Given the description of an element on the screen output the (x, y) to click on. 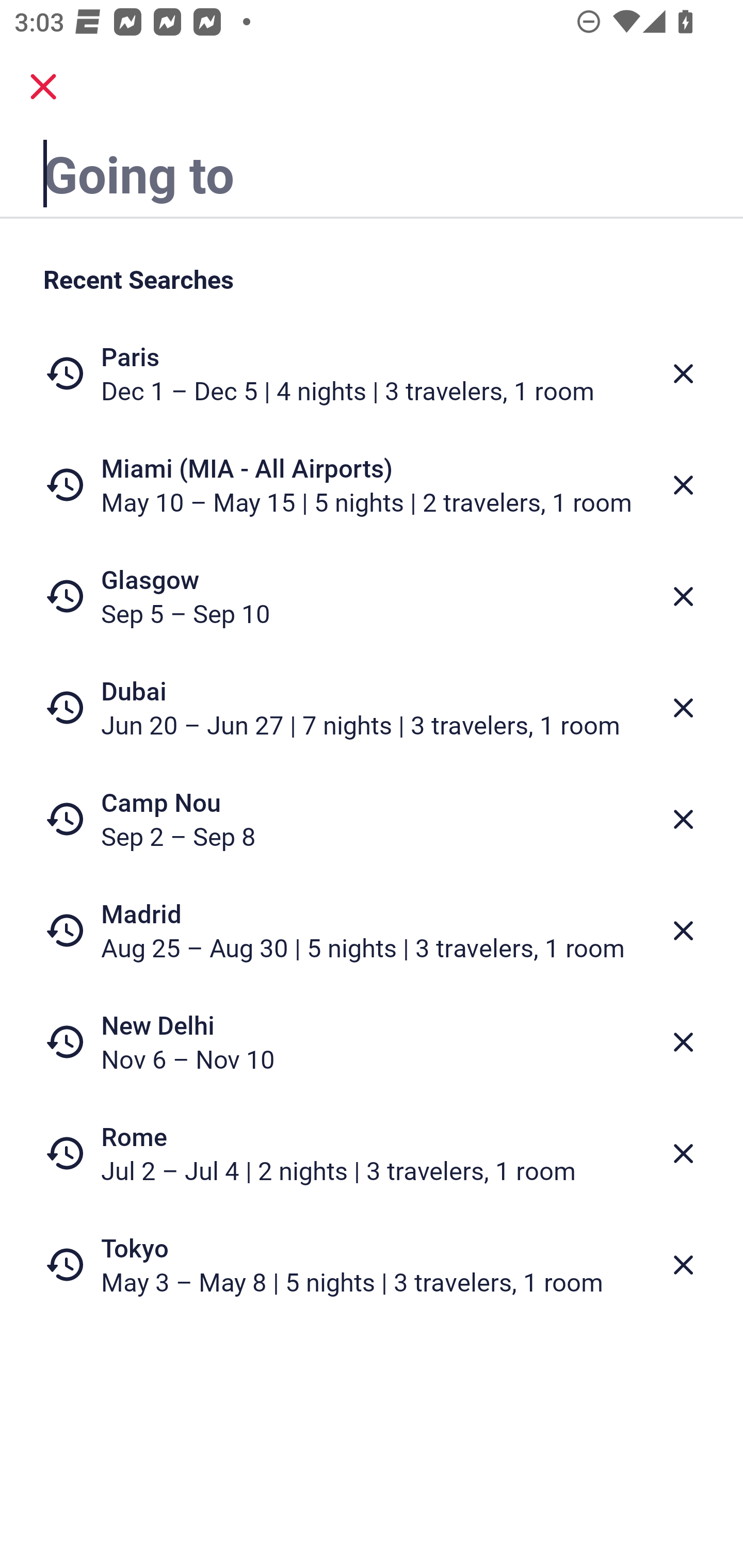
close. (43, 86)
Delete from recent searches (683, 373)
Delete from recent searches (683, 485)
Glasgow Sep 5 – Sep 10 (371, 596)
Delete from recent searches (683, 596)
Delete from recent searches (683, 707)
Camp Nou Sep 2 – Sep 8 (371, 818)
Delete from recent searches (683, 819)
Delete from recent searches (683, 930)
New Delhi Nov 6 – Nov 10 (371, 1041)
Delete from recent searches (683, 1041)
Delete from recent searches (683, 1153)
Delete from recent searches (683, 1265)
